Given the description of an element on the screen output the (x, y) to click on. 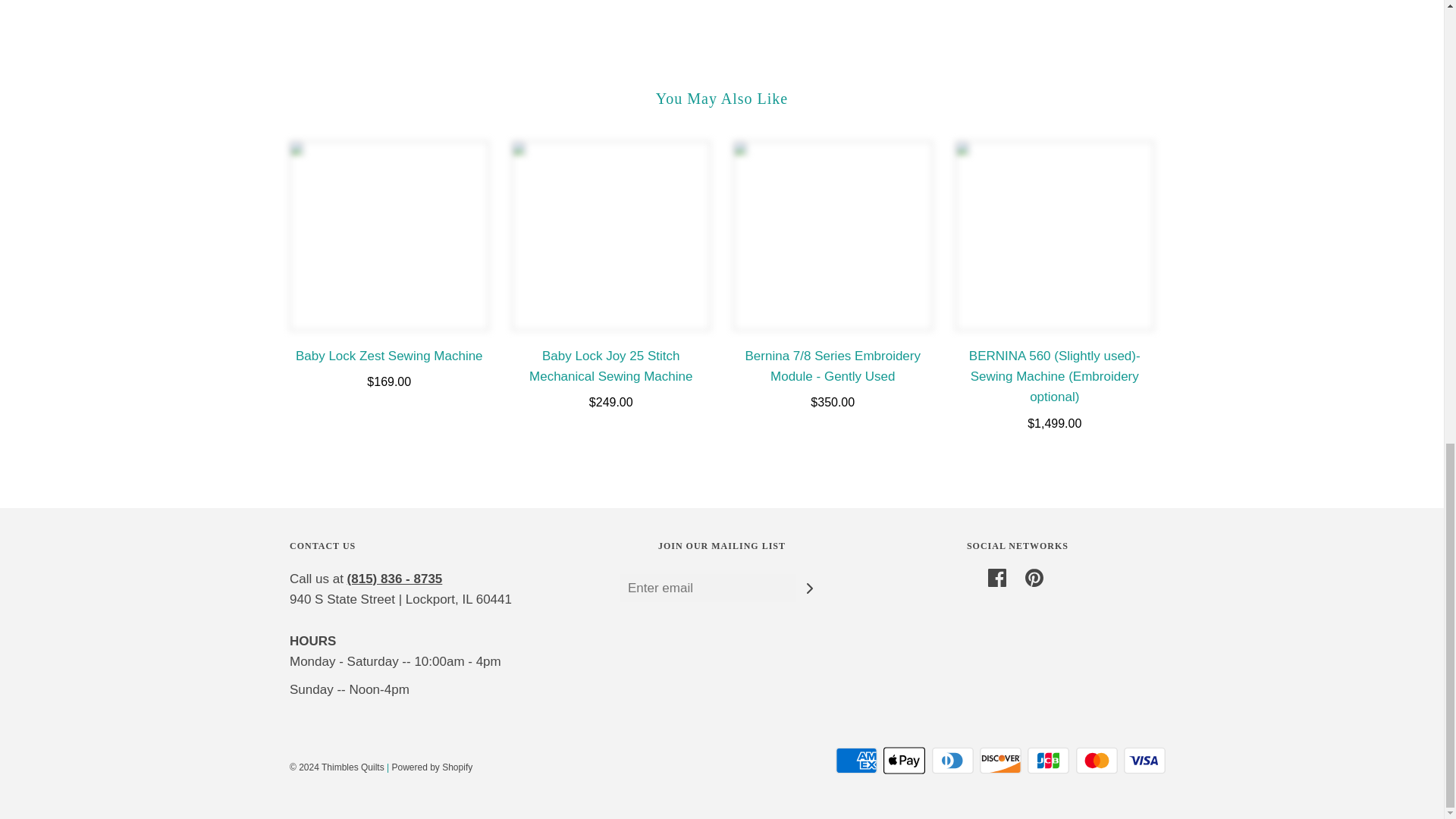
Pinterest icon (1034, 577)
JCB (1047, 760)
Mastercard (1096, 760)
Apple Pay (903, 760)
Discover (1000, 760)
American Express (856, 760)
Diners Club (952, 760)
Facebook icon (997, 577)
Baby Lock Zest Sewing Machine (389, 235)
Baby Lock Joy 25 Stitch Mechanical Sewing Machine (610, 235)
